Given the description of an element on the screen output the (x, y) to click on. 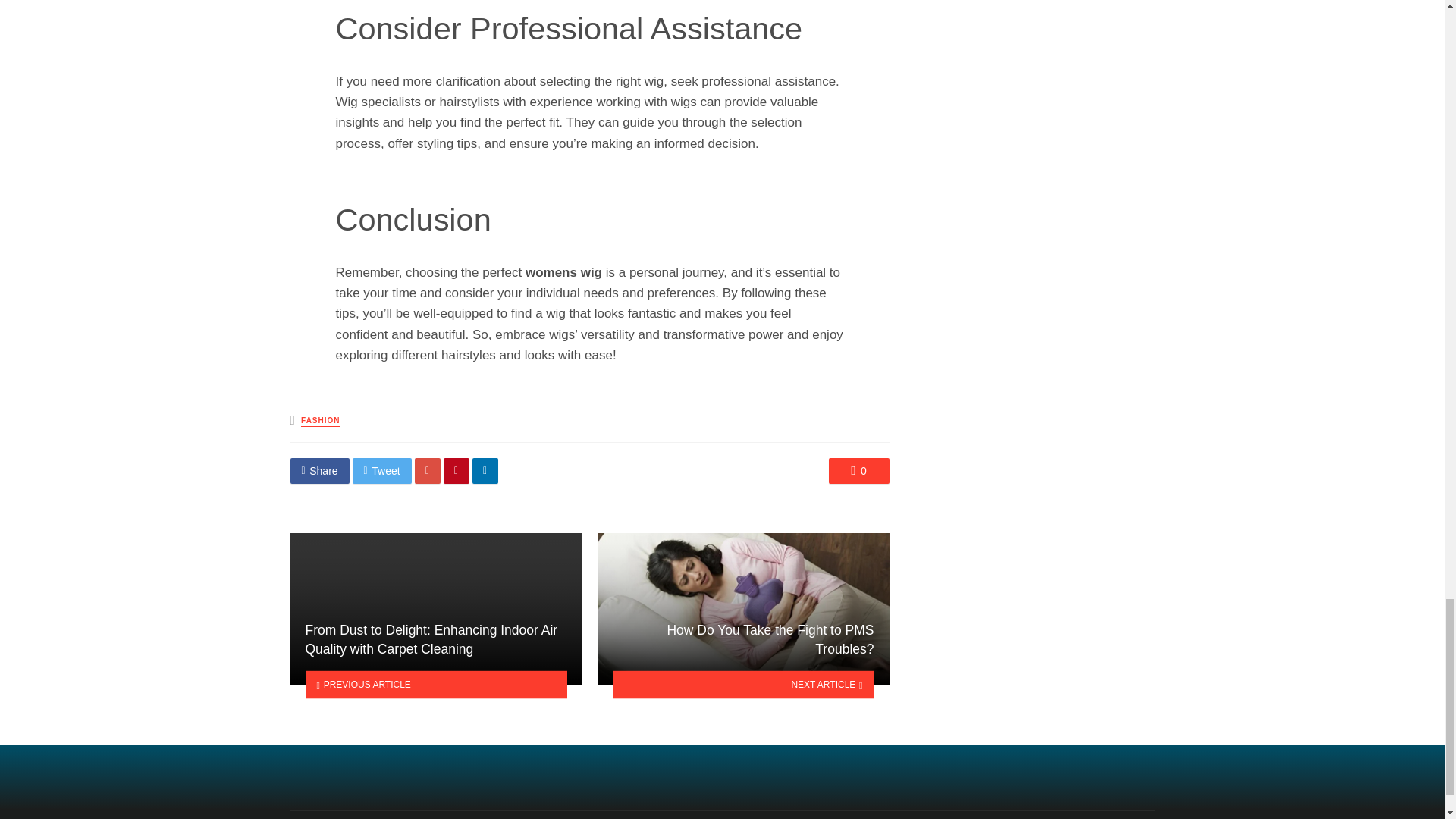
PREVIOUS ARTICLE (434, 684)
NEXT ARTICLE (742, 684)
FASHION (320, 420)
Share on Facebook (319, 470)
Tweet (382, 470)
0 (858, 470)
Share (319, 470)
